Given the description of an element on the screen output the (x, y) to click on. 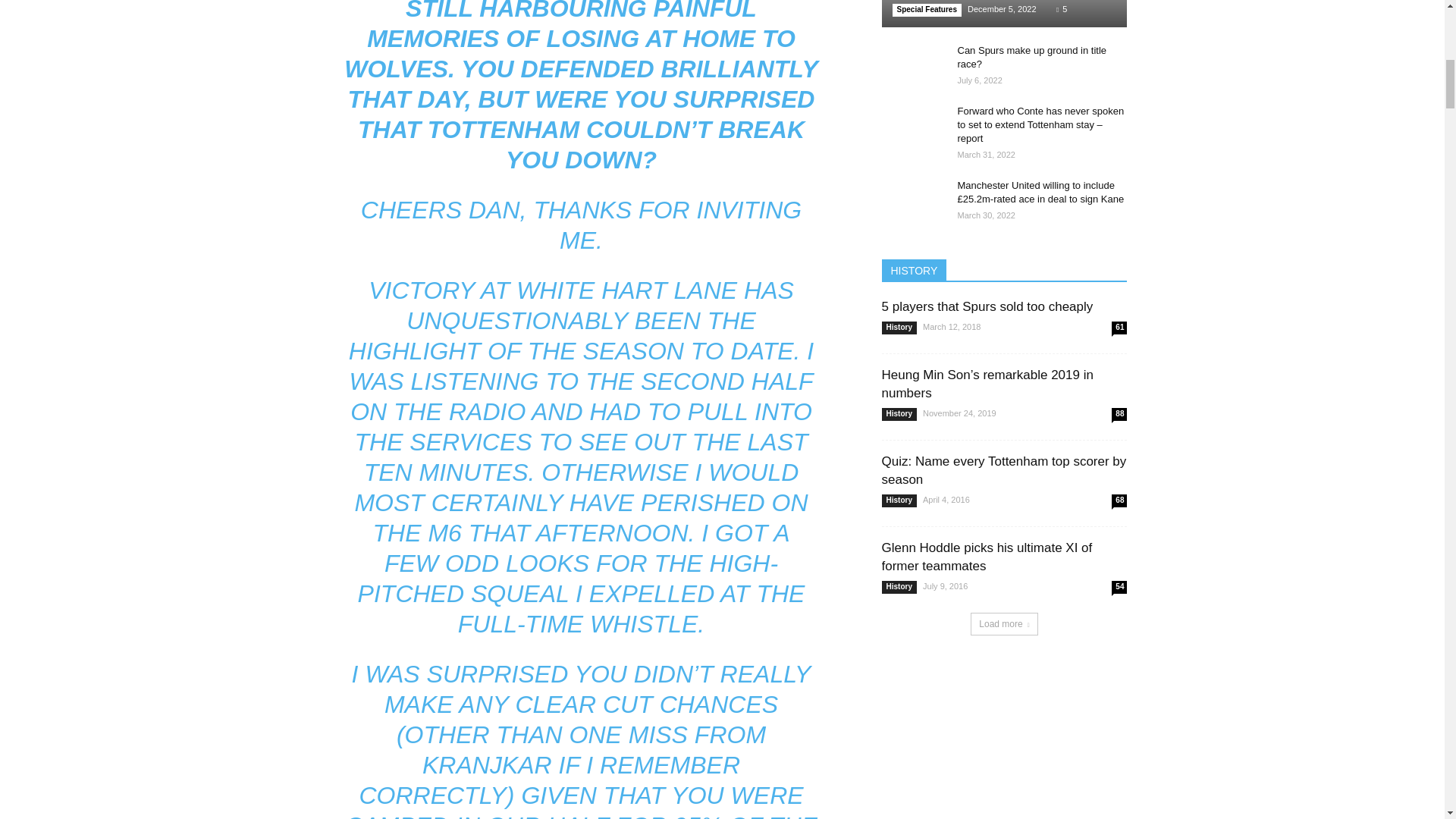
Can Spurs make up ground in title race? (1031, 57)
Quiz: Name every Tottenham top scorer by season (1002, 470)
Will Son shine at the 2022 World Cup? (1003, 13)
5 players that Spurs sold too cheaply (986, 306)
Can Spurs make up ground in title race? (911, 64)
